Given the description of an element on the screen output the (x, y) to click on. 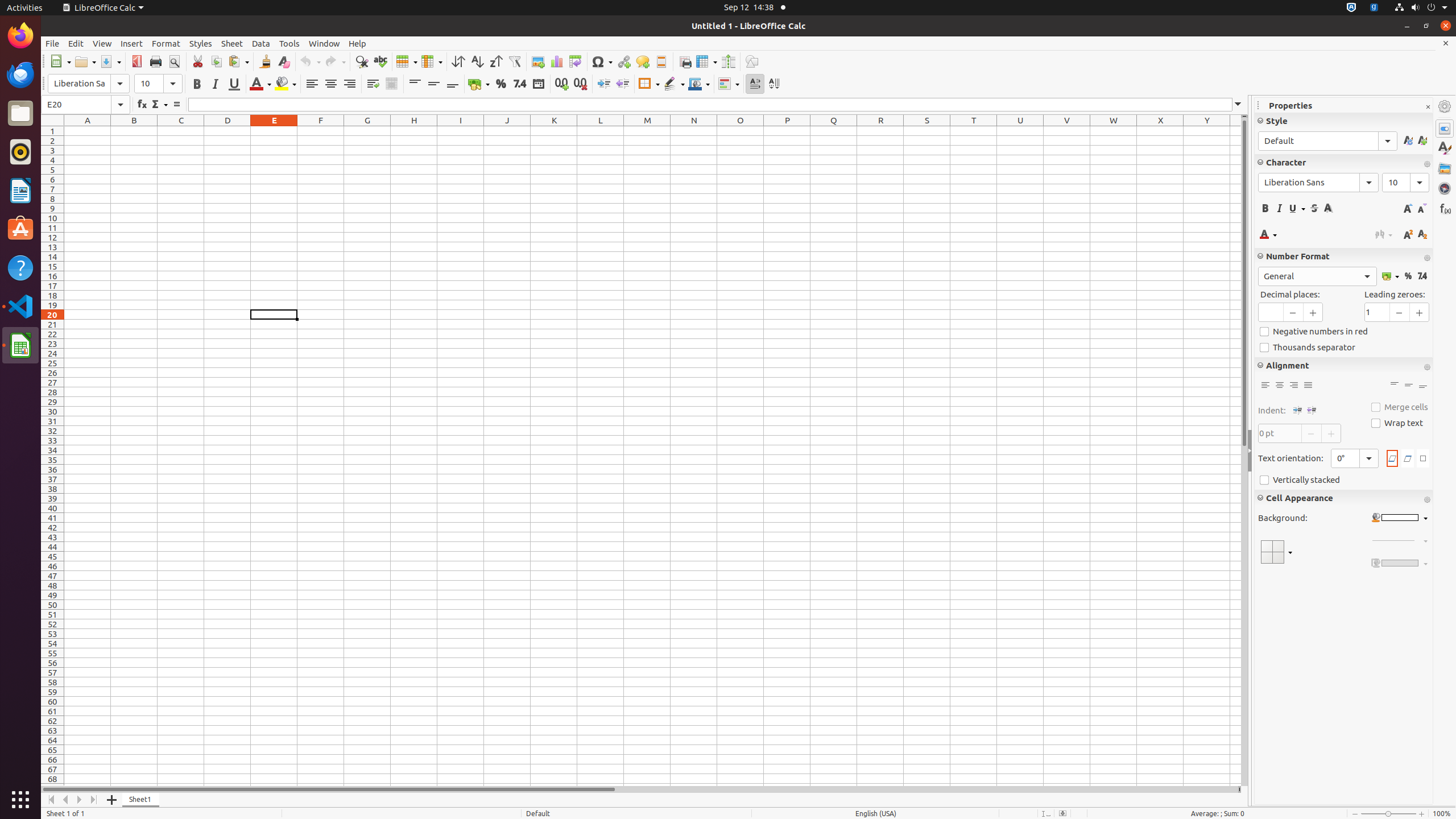
Redo Element type: push-button (334, 61)
Thunderbird Mail Element type: push-button (20, 74)
Format Element type: menu (165, 43)
M1 Element type: table-cell (646, 130)
More Options Element type: push-button (1426, 499)
